Given the description of an element on the screen output the (x, y) to click on. 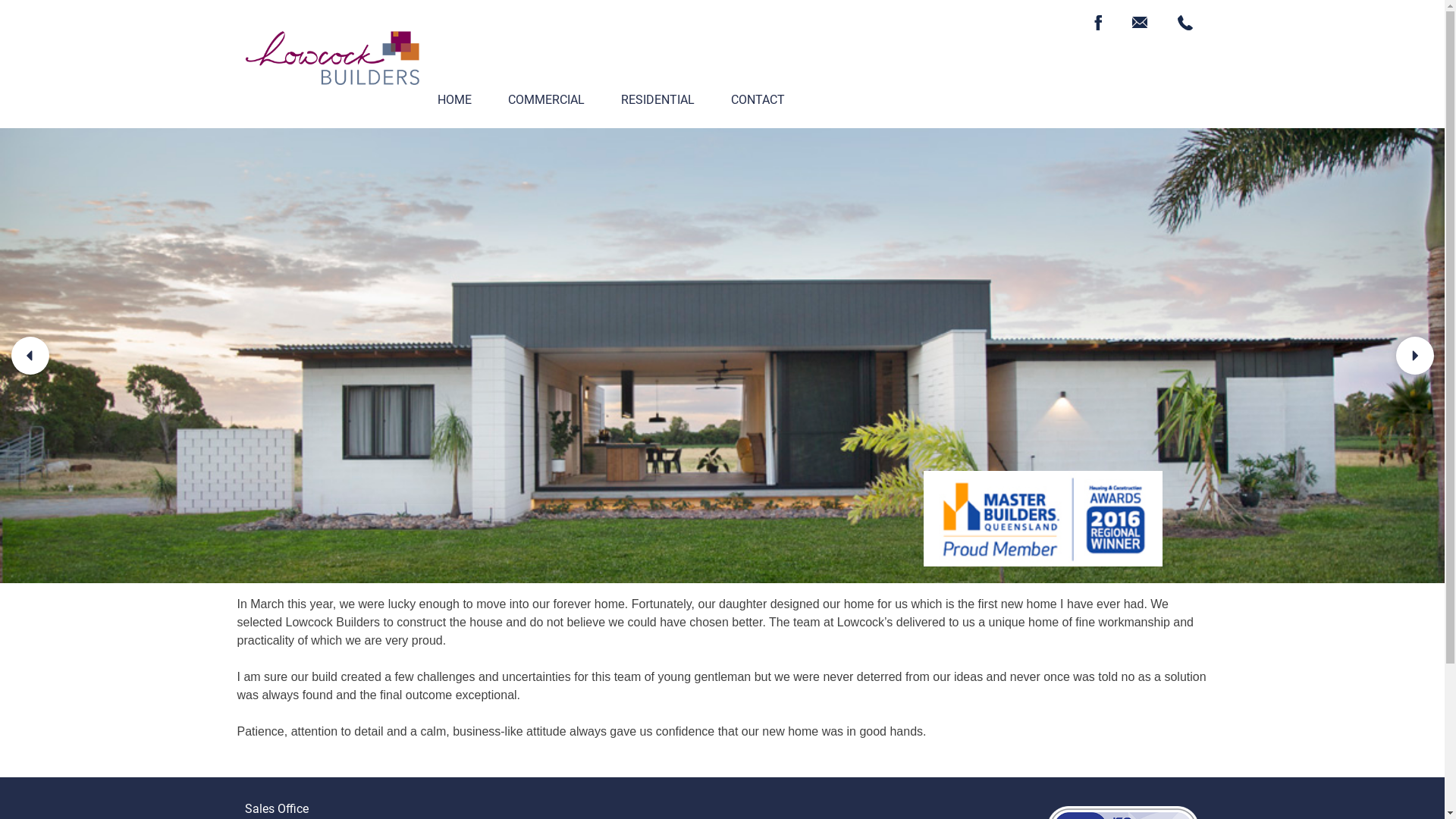
COMMERCIAL Element type: text (545, 100)
RESIDENTIAL Element type: text (657, 100)
CONTACT Element type: text (757, 100)
07 4785 0611 Element type: hover (1184, 22)
HOME Element type: text (453, 100)
